Given the description of an element on the screen output the (x, y) to click on. 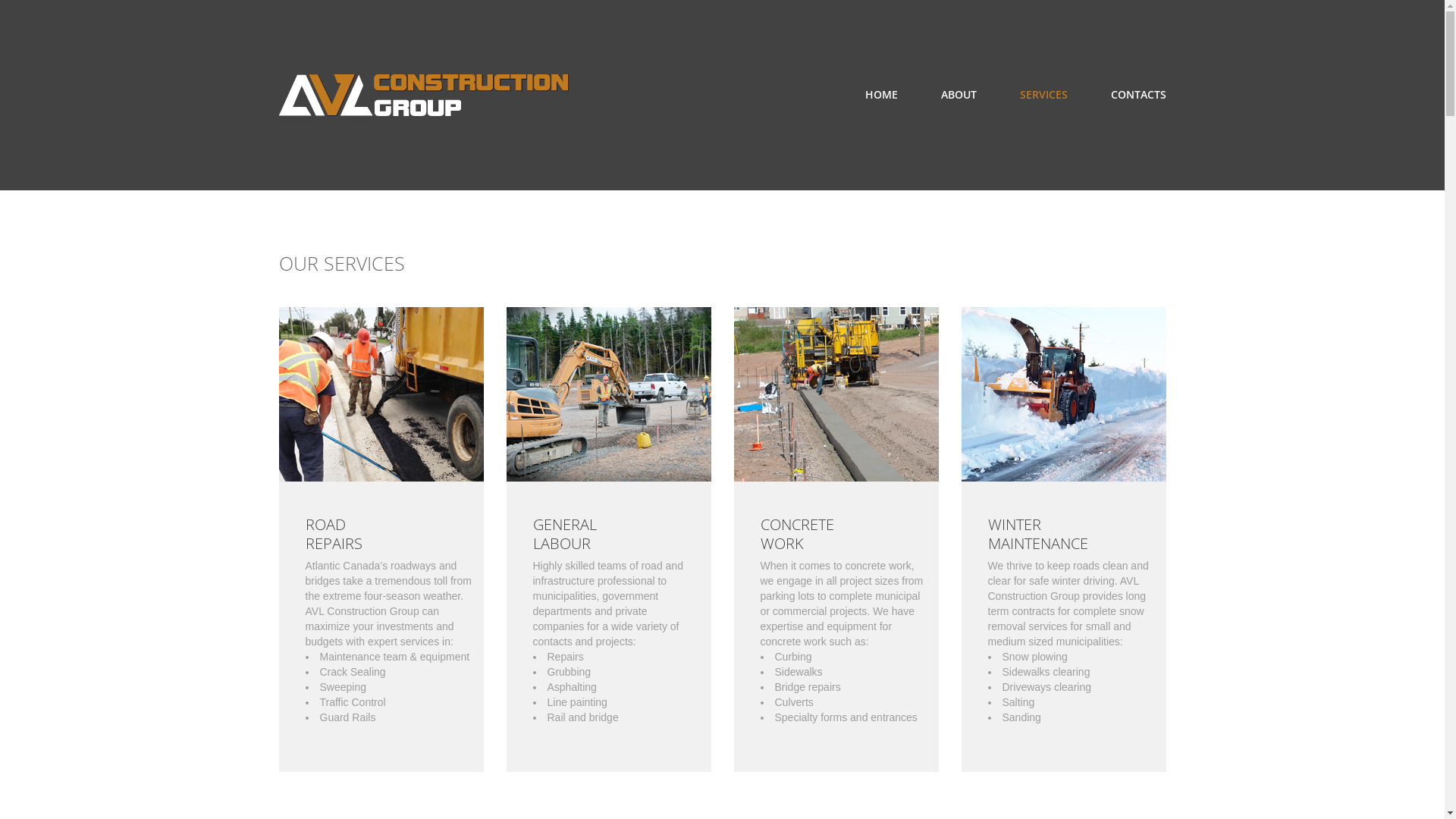
CONTACTS Element type: text (1137, 94)
WINTER
MAINTENANCE Element type: text (1037, 533)
ROAD
REPAIRS Element type: text (332, 533)
SERVICES Element type: text (1042, 94)
HOME Element type: text (880, 94)
ABOUT Element type: text (957, 94)
CONCRETE
WORK Element type: text (796, 533)
GENERAL
LABOUR Element type: text (564, 533)
